Given the description of an element on the screen output the (x, y) to click on. 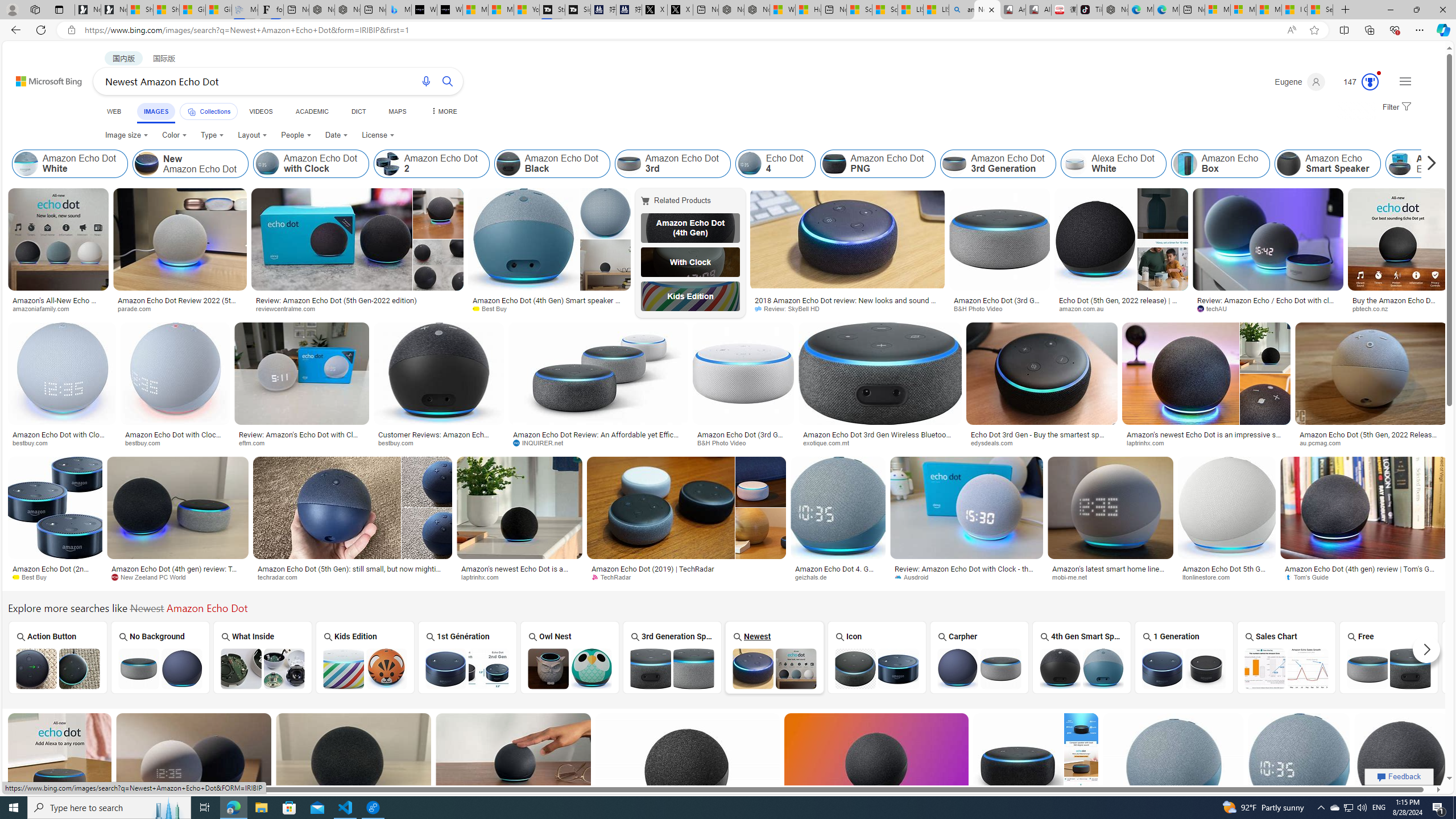
Class: b_pri_nav_svg (191, 112)
amazoniafamily.com (58, 308)
People (295, 135)
Amazon Echo Dot PNG (833, 163)
Scroll more suggestions right (1426, 649)
1 Generation (1184, 656)
